Given the description of an element on the screen output the (x, y) to click on. 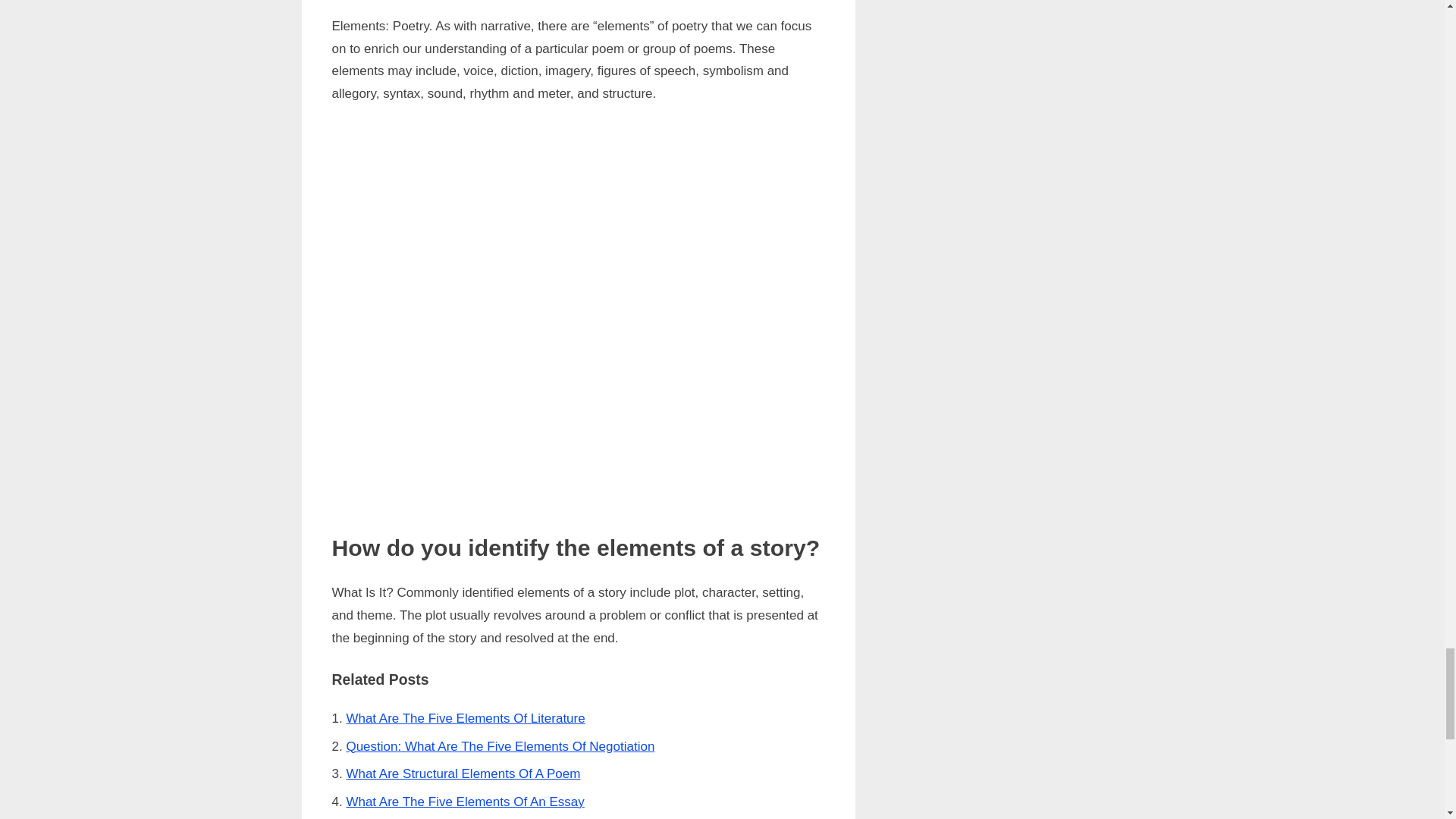
What Are The Five Elements Of Literature (465, 718)
What Are Structural Elements Of A Poem (462, 773)
Question: What Are The Five Elements Of Negotiation (499, 746)
What Are The Five Elements Of An Essay (464, 801)
Question: What Are The Five Elements Of Negotiation (499, 746)
What Are The Five Elements Of Literature (465, 718)
What Are The Five Elements Of An Essay (464, 801)
What Are Structural Elements Of A Poem (462, 773)
